Given the description of an element on the screen output the (x, y) to click on. 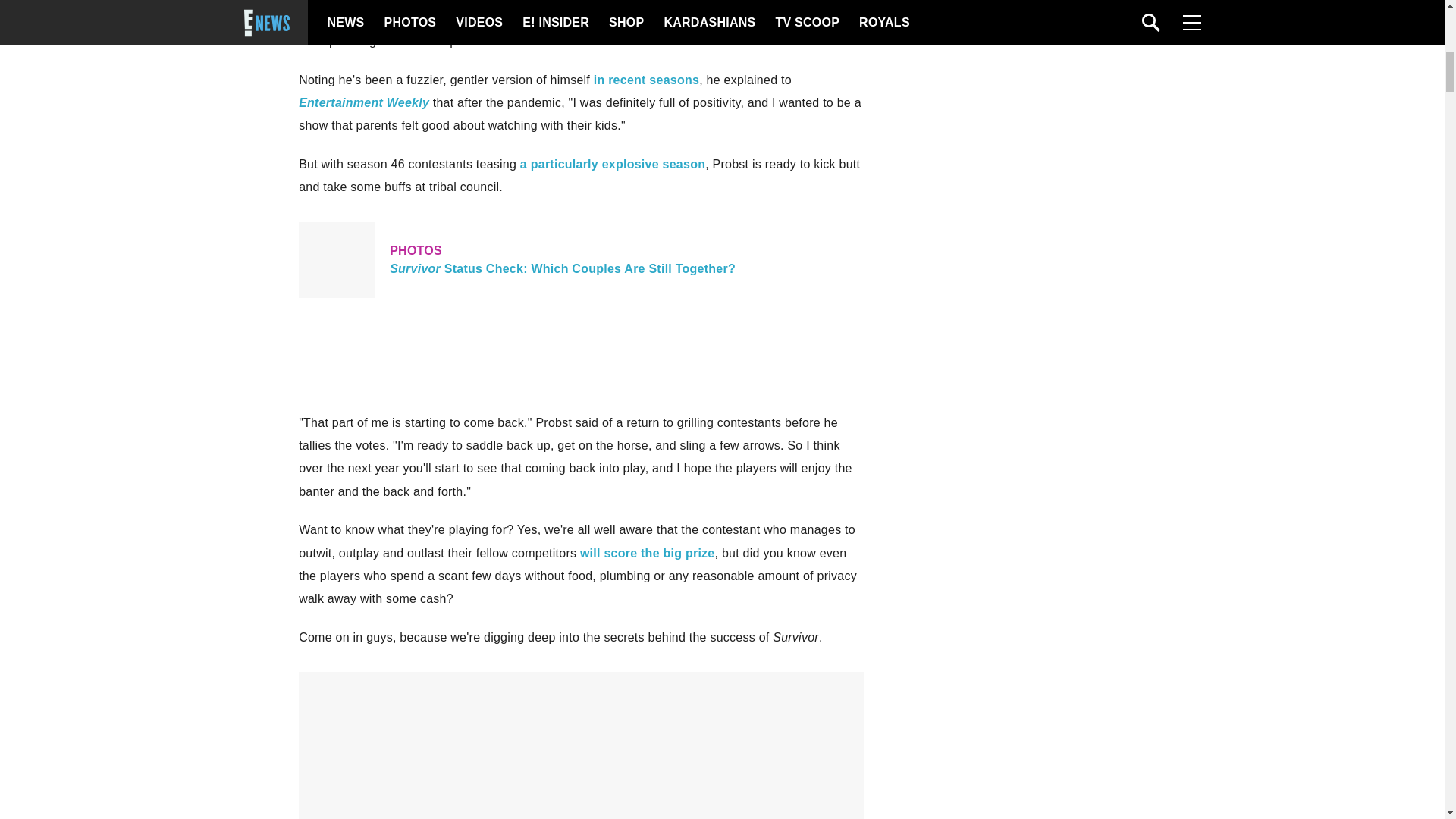
will score the big prize (646, 553)
in recent seasons (646, 79)
a particularly explosive season (611, 164)
Jeff Probst (722, 1)
Entertainment Weekly (363, 102)
